Given the description of an element on the screen output the (x, y) to click on. 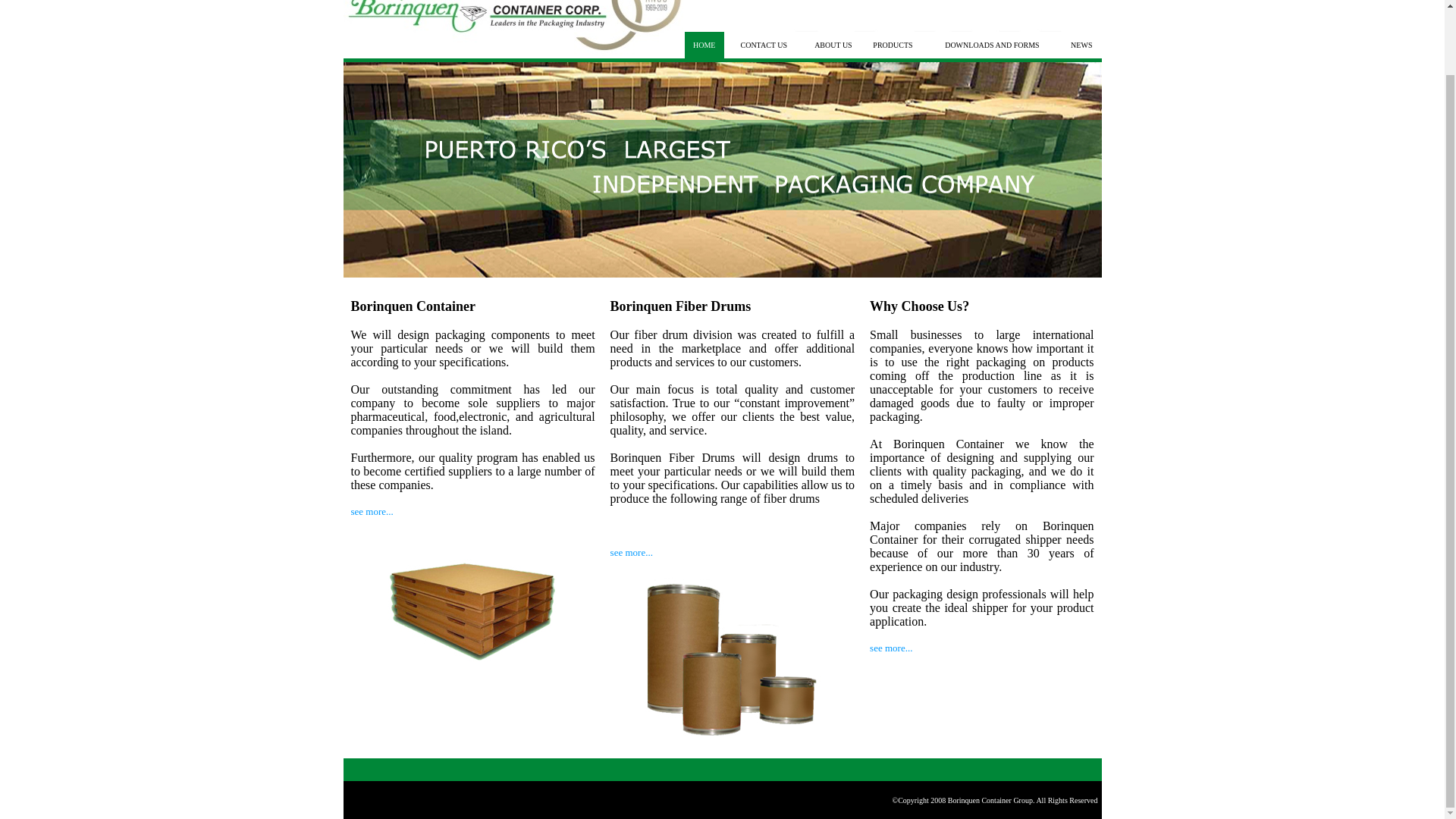
CONTACT US (763, 44)
NEWS (1081, 44)
see more... (890, 647)
HOME (703, 44)
Why Choose Us? (919, 305)
Borinquen Container (413, 305)
Borinquen Fiber Drums (680, 305)
see more... (371, 511)
DOWNLOADS AND FORMS (991, 44)
ABOUT US (832, 44)
